Given the description of an element on the screen output the (x, y) to click on. 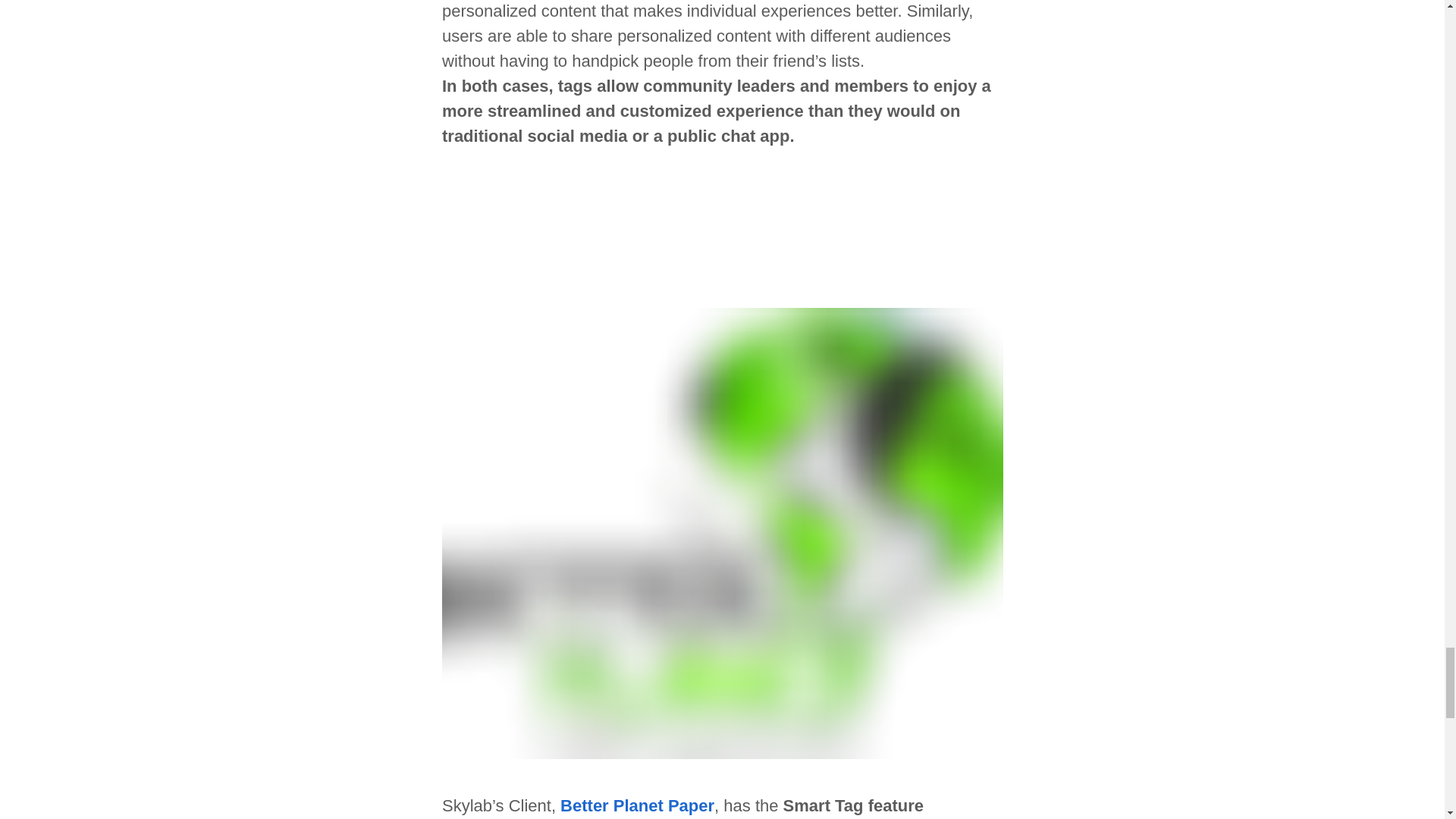
Better Planet Paper (637, 805)
